Given the description of an element on the screen output the (x, y) to click on. 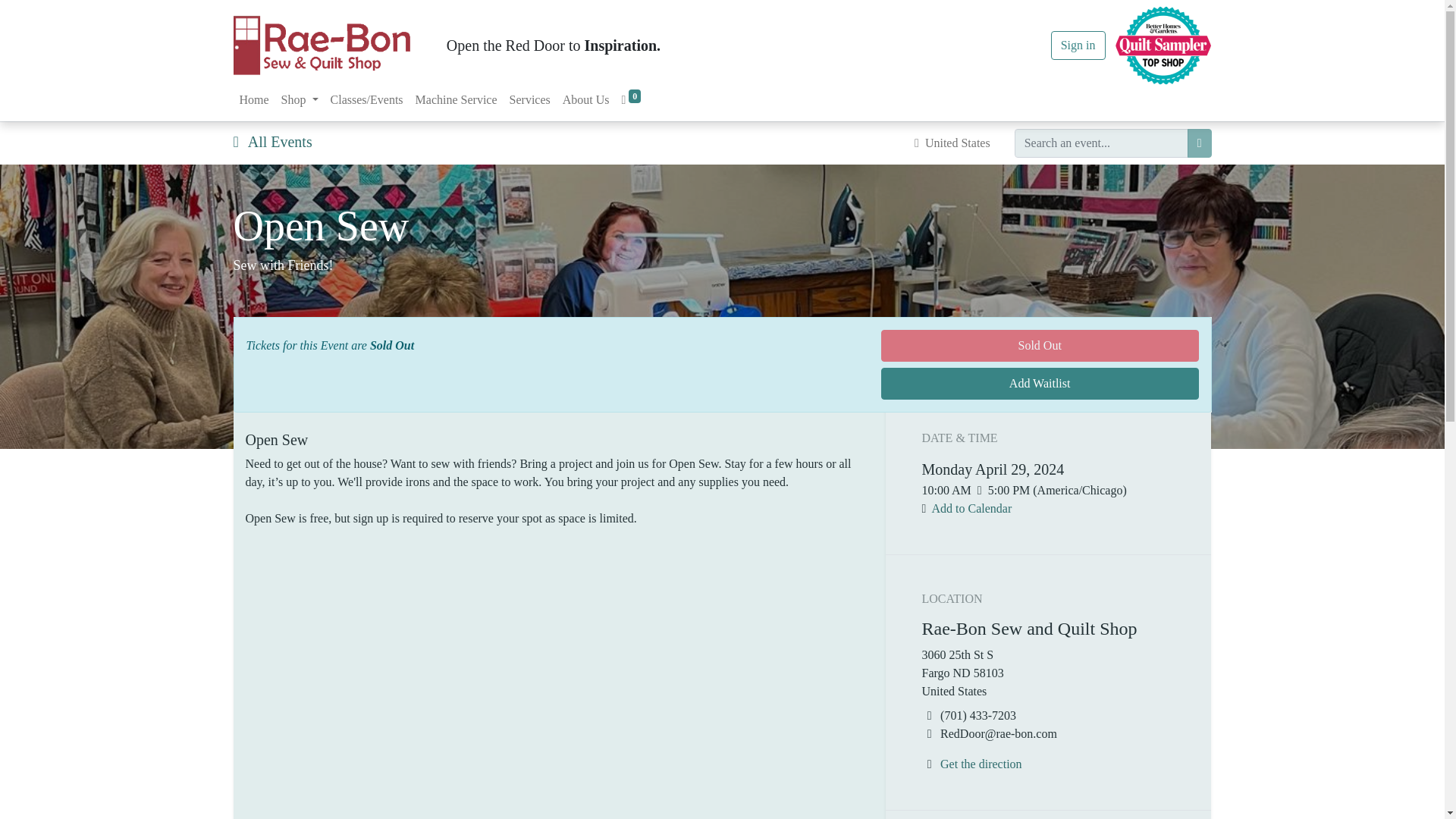
Machine Service (456, 100)
Services (529, 100)
United States (952, 142)
Sold Out (1039, 345)
Shop (299, 100)
Email (929, 734)
All Events (272, 141)
Add to Calendar (971, 508)
About Us (585, 100)
Add Waitlist (1039, 383)
